Given the description of an element on the screen output the (x, y) to click on. 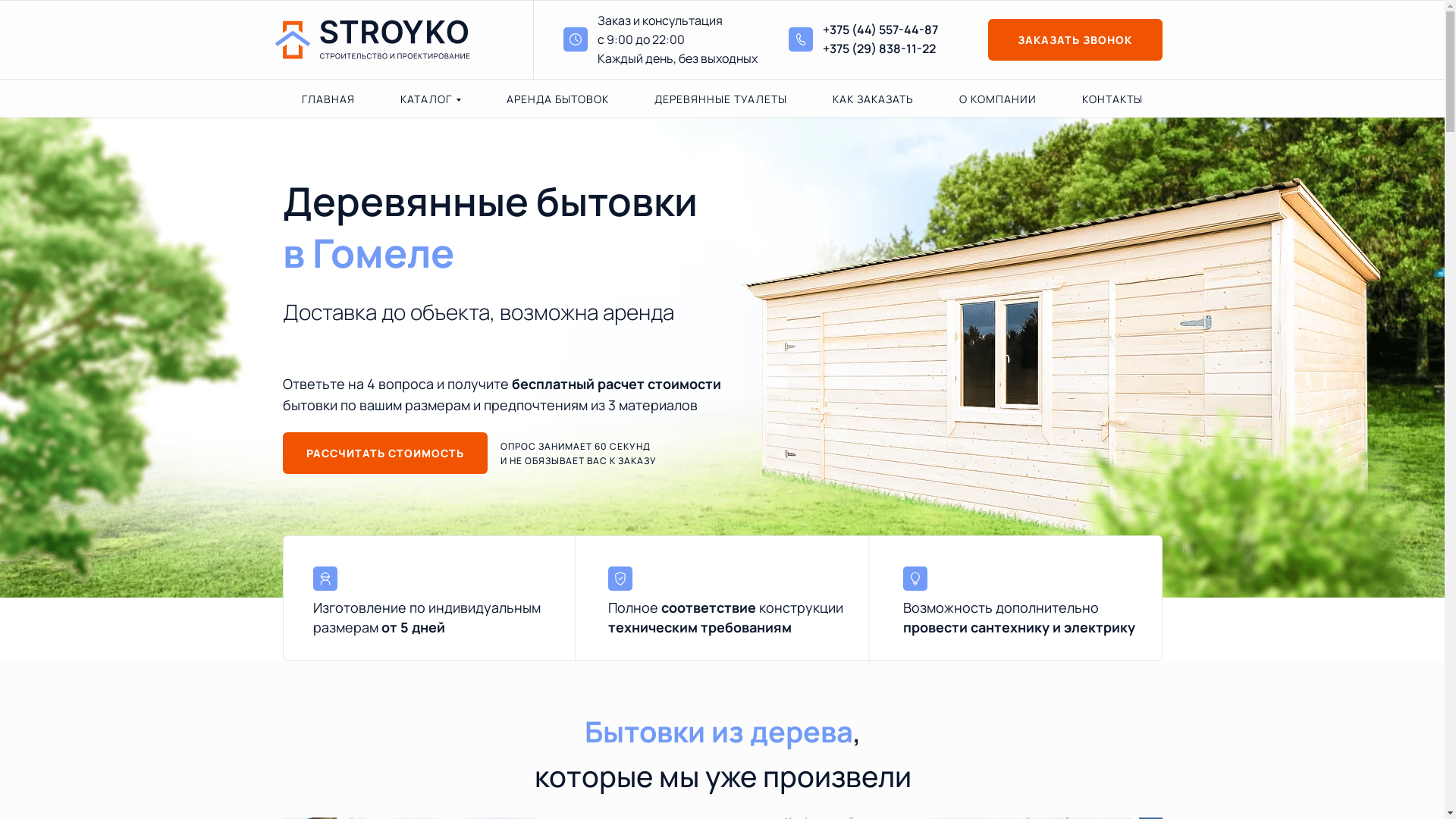
+375 (44) 557-44-87 Element type: text (879, 29)
+375 (29) 838-11-22 Element type: text (878, 48)
